Given the description of an element on the screen output the (x, y) to click on. 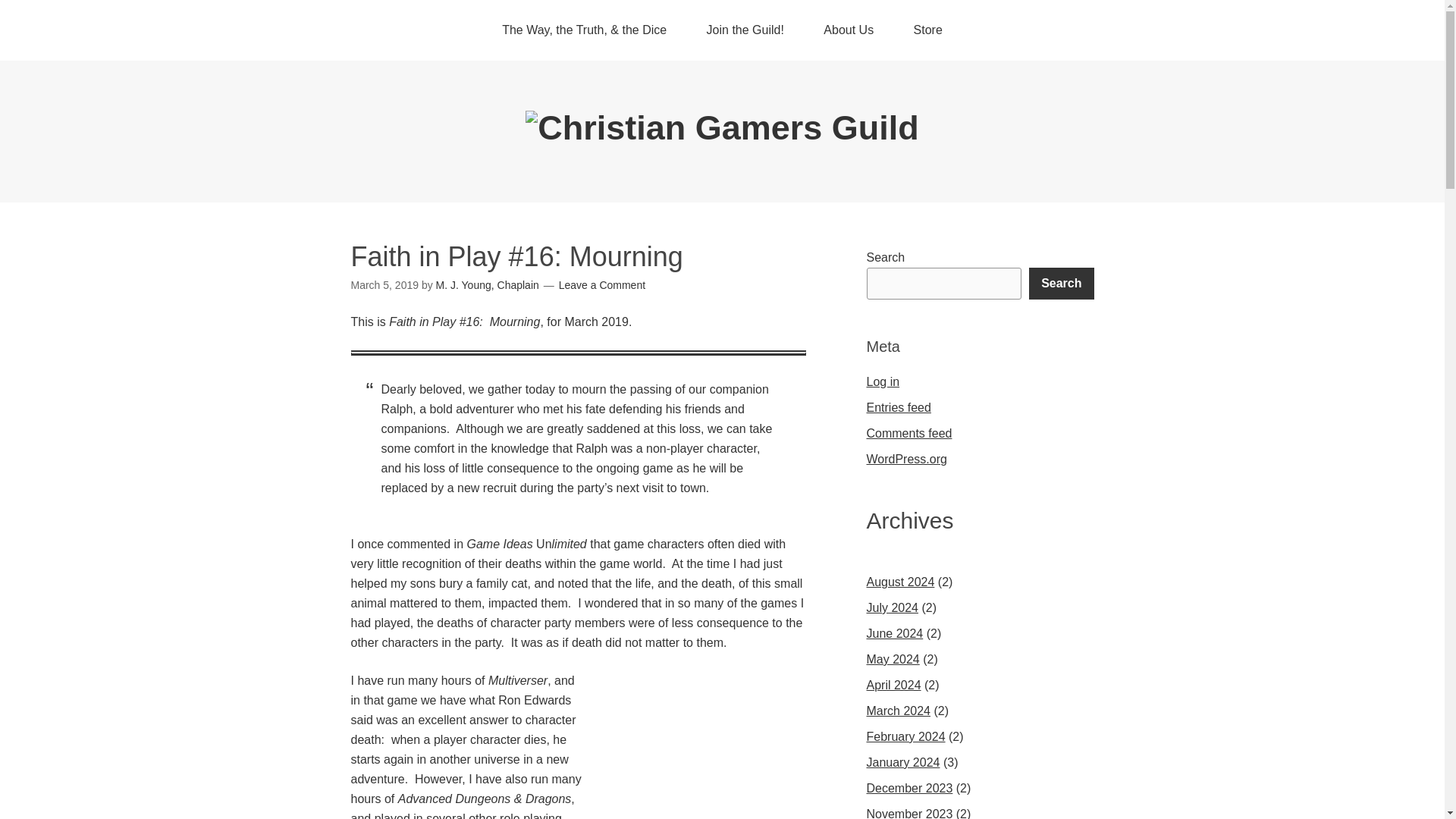
February 2024 (905, 736)
Store (927, 30)
November 2023 (909, 813)
Join the Guild! (745, 30)
April 2024 (893, 684)
March 2024 (898, 710)
Comments feed (909, 432)
Search (1061, 283)
Tuesday, March 5, 2019, 3:00 pm (384, 285)
Posts by M. J. Young, Chaplain (486, 285)
